Given the description of an element on the screen output the (x, y) to click on. 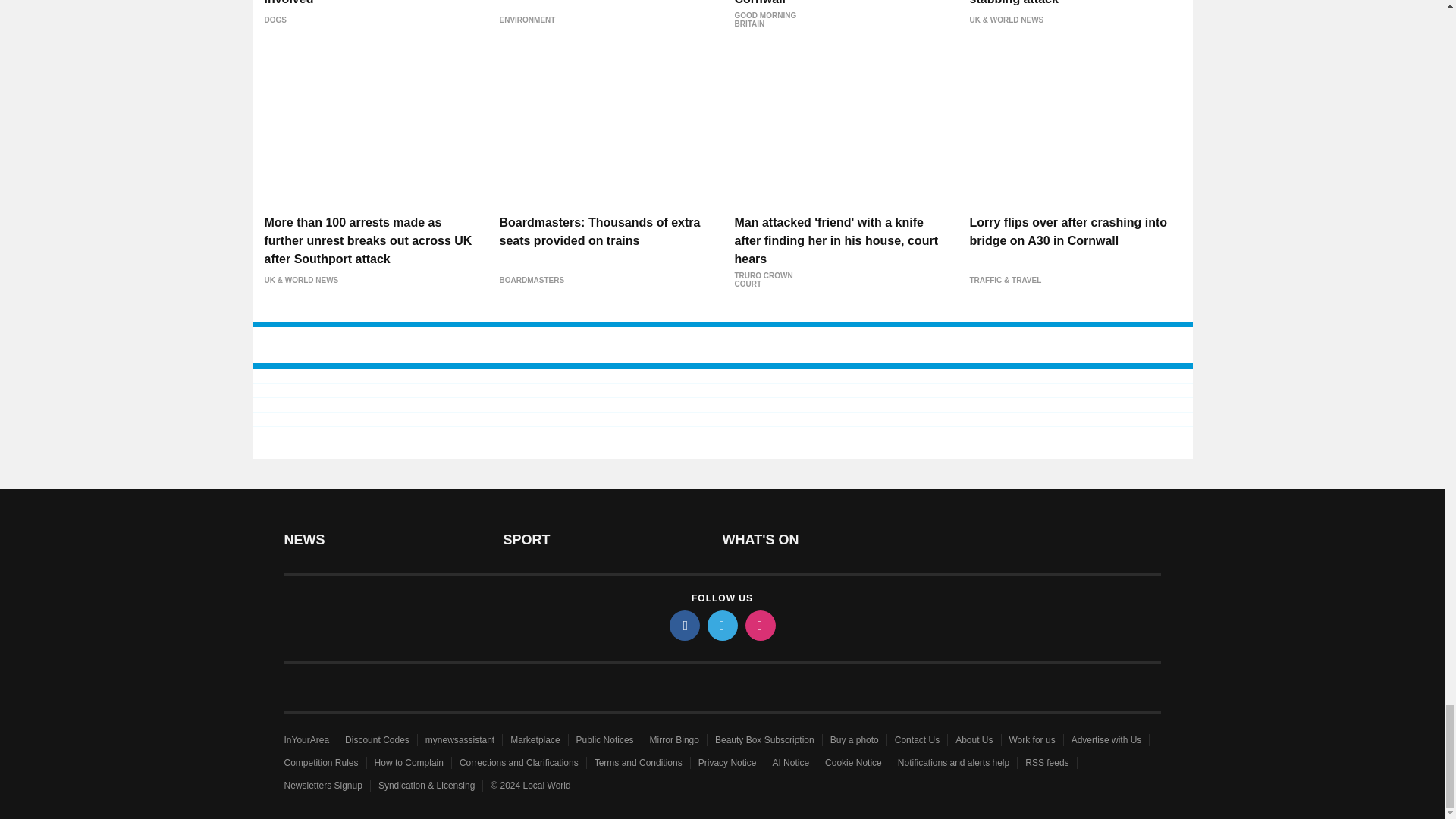
twitter (721, 625)
facebook (683, 625)
instagram (759, 625)
